Given the description of an element on the screen output the (x, y) to click on. 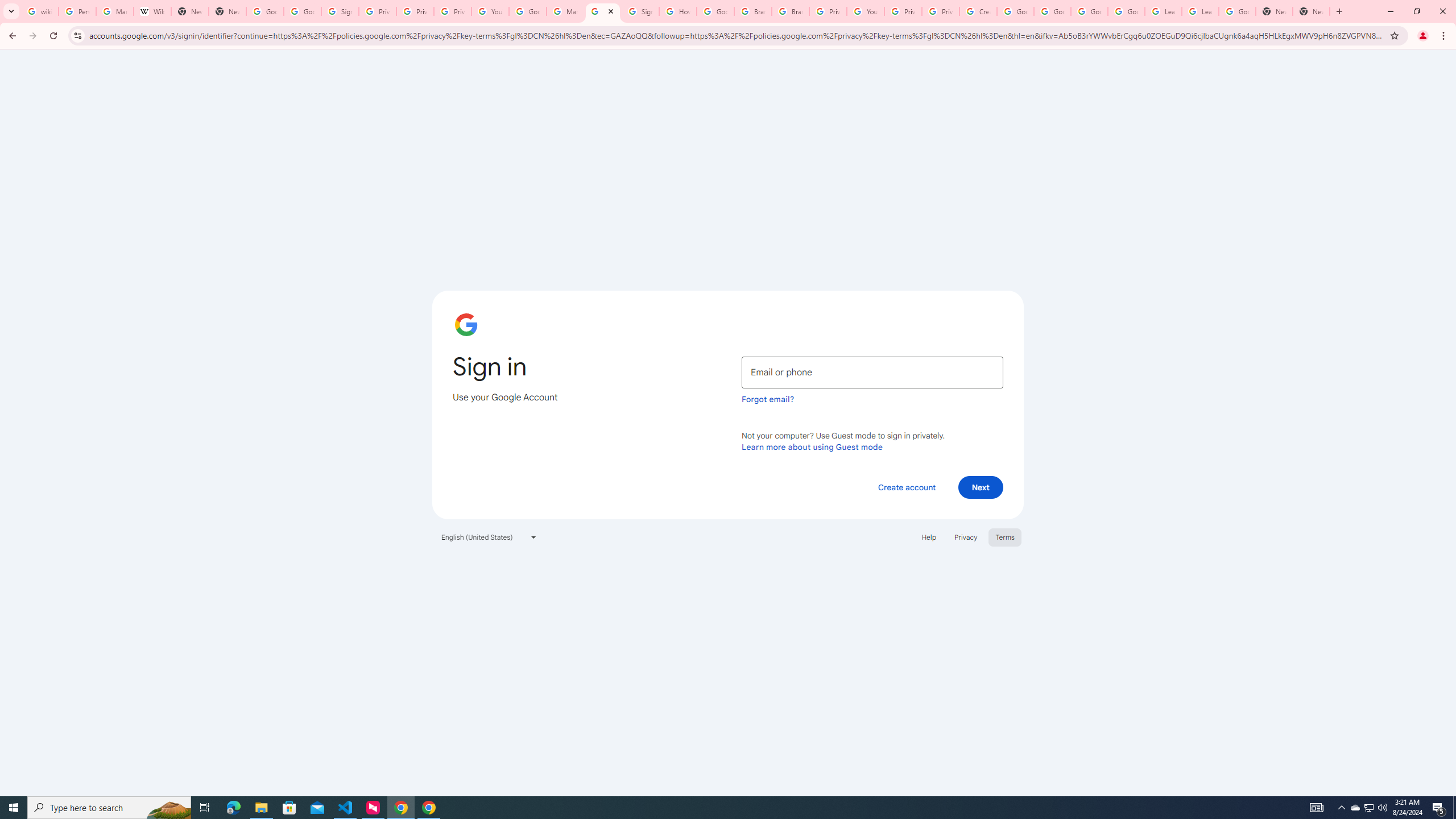
Create your Google Account (977, 11)
English (United States) (489, 536)
Wikipedia:Edit requests - Wikipedia (152, 11)
Brand Resource Center (790, 11)
Google Account (1237, 11)
Personalization & Google Search results - Google Search Help (77, 11)
